Given the description of an element on the screen output the (x, y) to click on. 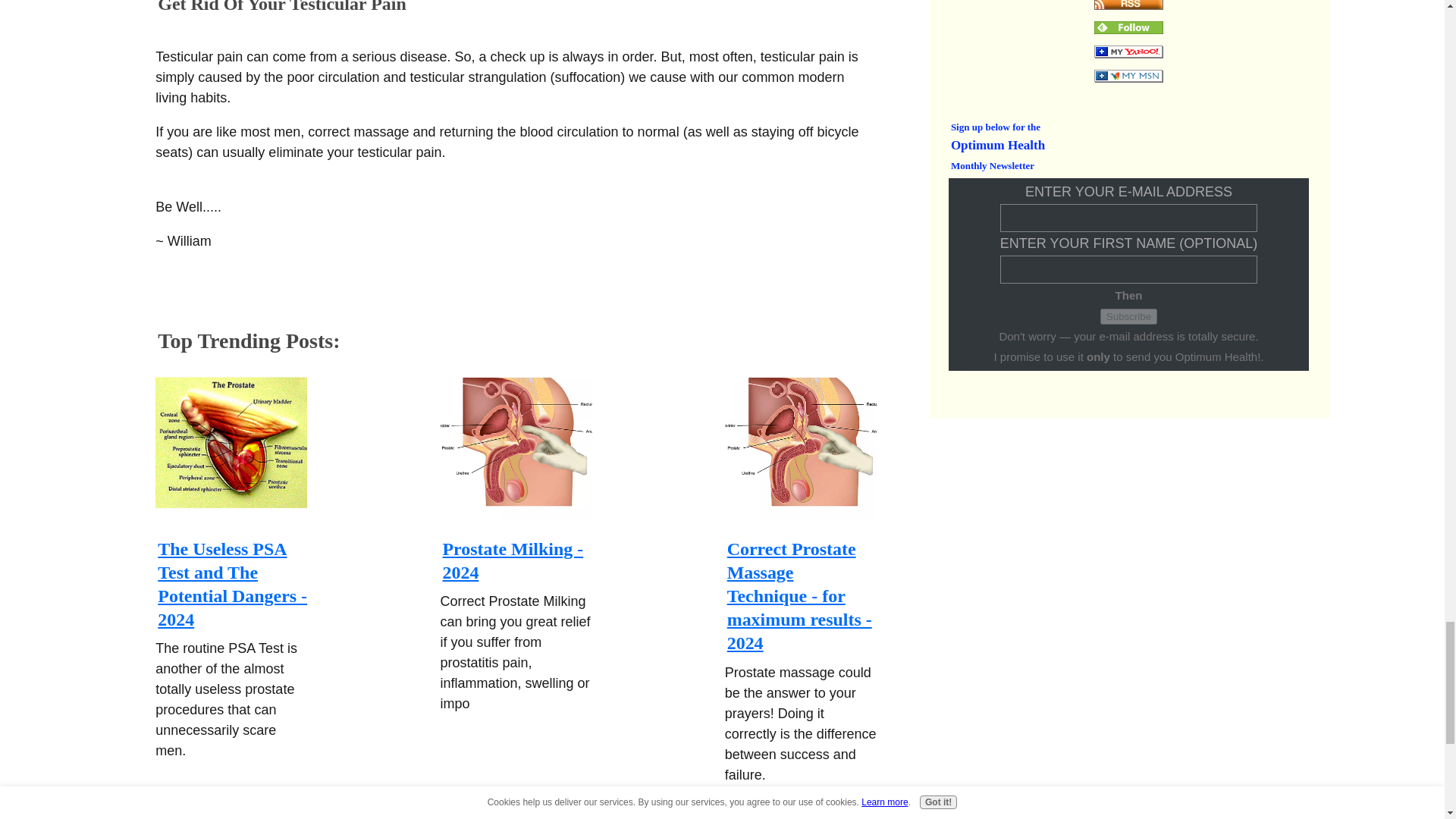
Subscribe (1128, 316)
